Given the description of an element on the screen output the (x, y) to click on. 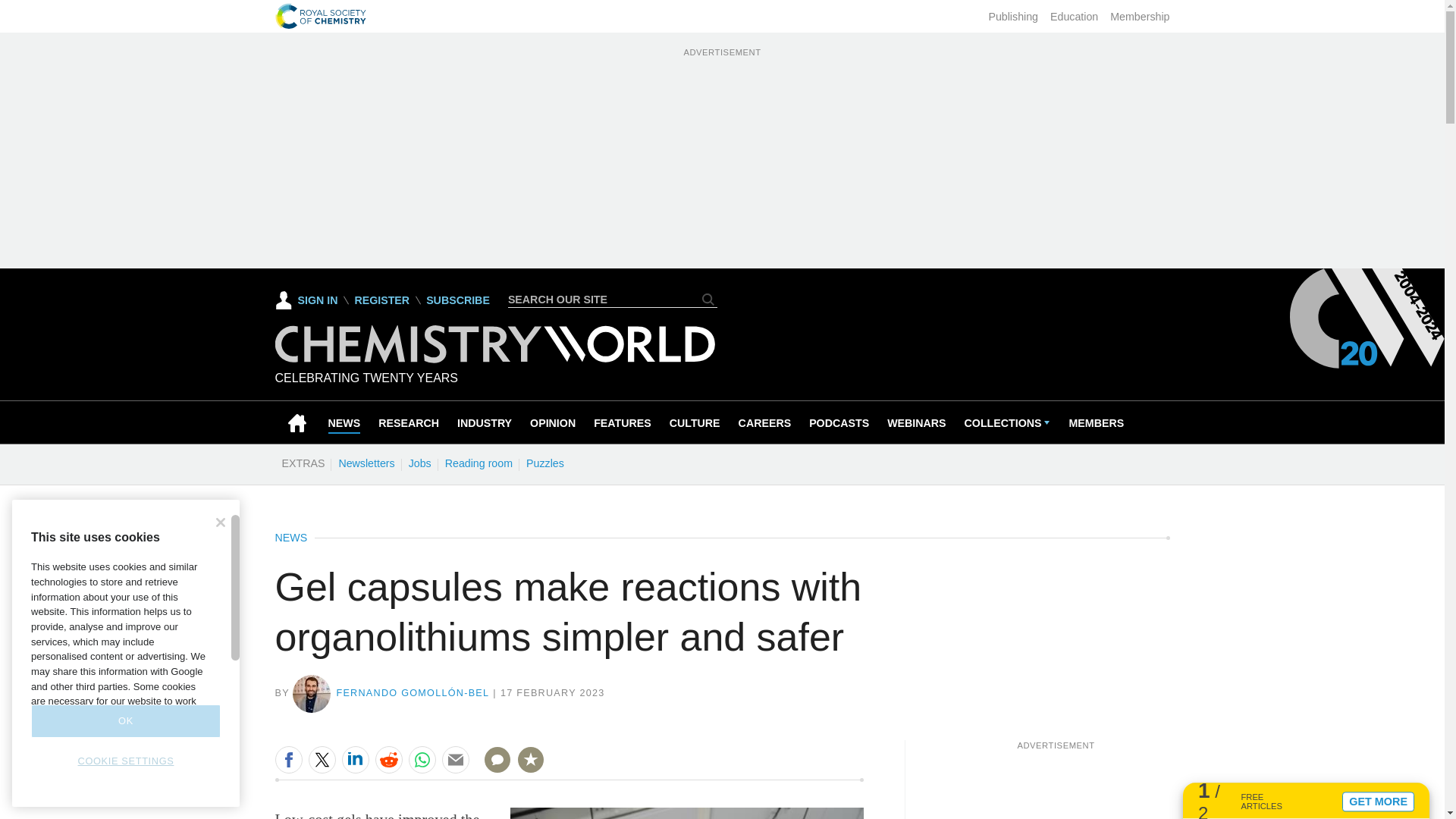
Newsletters (366, 463)
NO COMMENTS (492, 768)
SIGN IN (306, 300)
Share this on Reddit (387, 759)
Chemistry World (494, 358)
Jobs (419, 463)
Share this by email (454, 759)
REGISTER (381, 300)
Puzzles (544, 463)
Reading room (478, 463)
Share this on LinkedIn (354, 759)
Education (1073, 16)
3rd party ad content (1055, 785)
Share this on WhatsApp (421, 759)
SUBSCRIBE (457, 300)
